Given the description of an element on the screen output the (x, y) to click on. 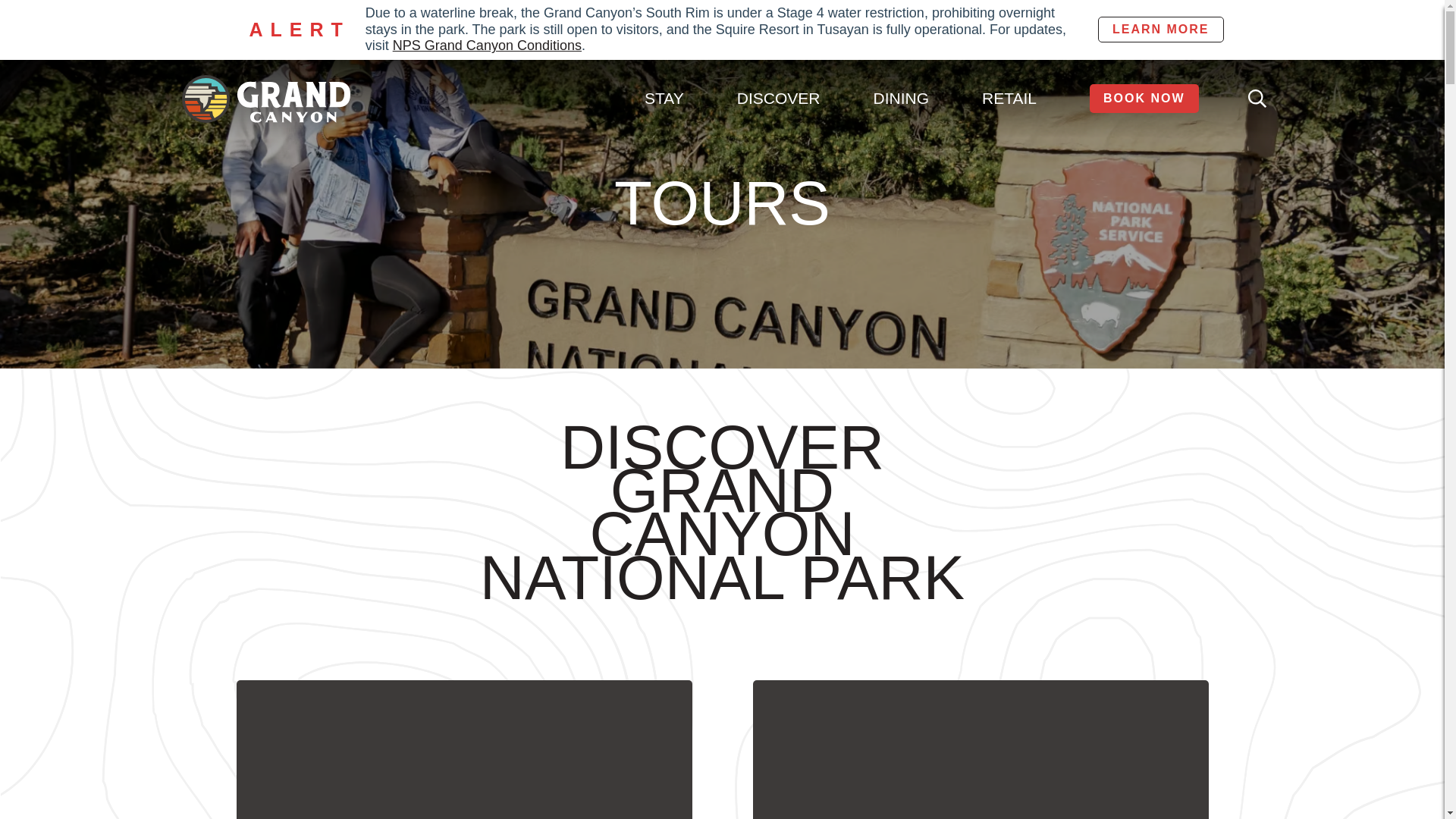
LEARN MORE (1160, 29)
STAY (663, 98)
Search icon (1256, 98)
DISCOVER (778, 98)
NPS Grand Canyon Conditions (486, 45)
